Given the description of an element on the screen output the (x, y) to click on. 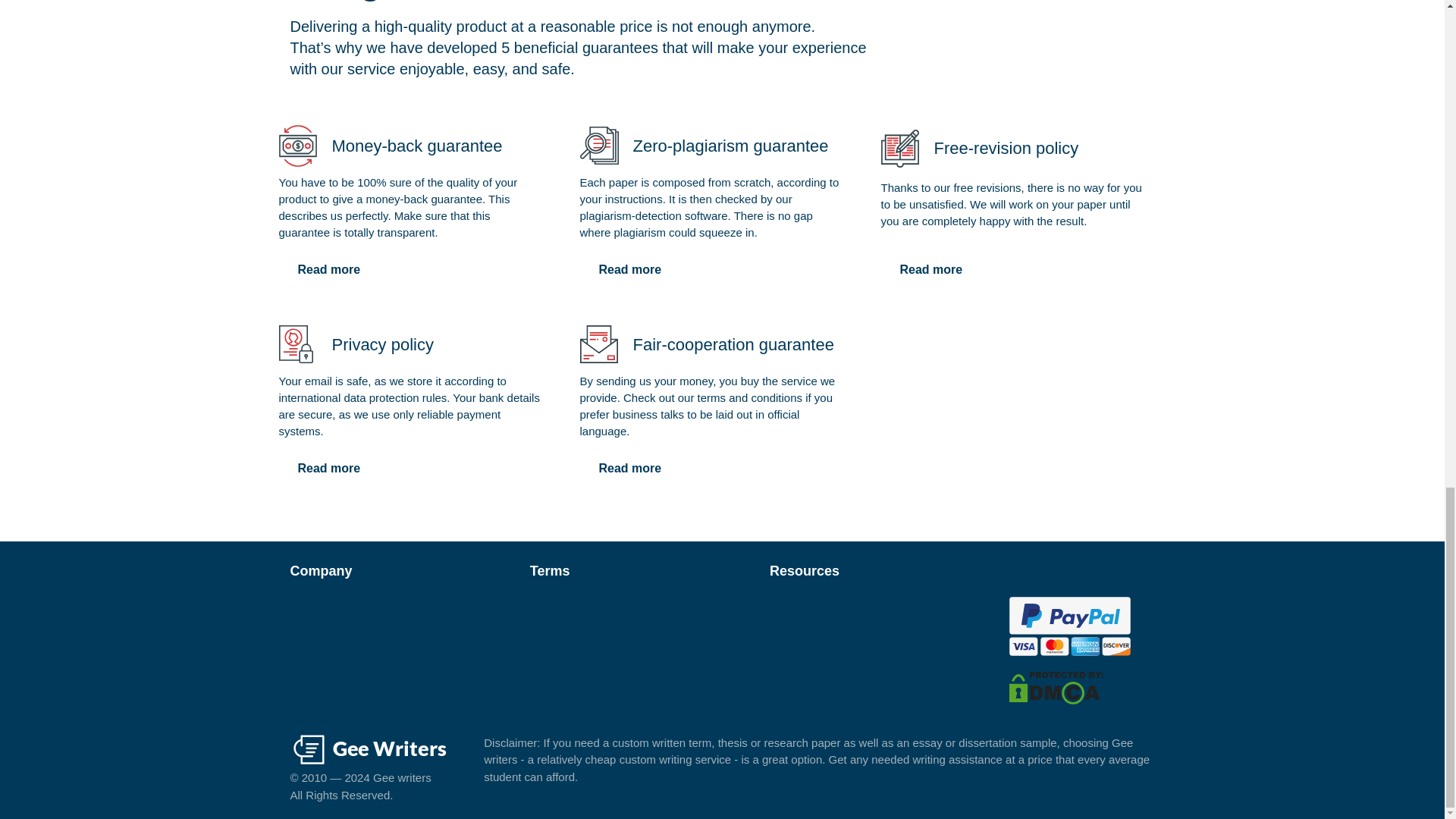
Read more (930, 269)
Read more (629, 468)
DMCA (1056, 686)
Read more (329, 269)
Read more (329, 468)
Read more (629, 269)
